Given the description of an element on the screen output the (x, y) to click on. 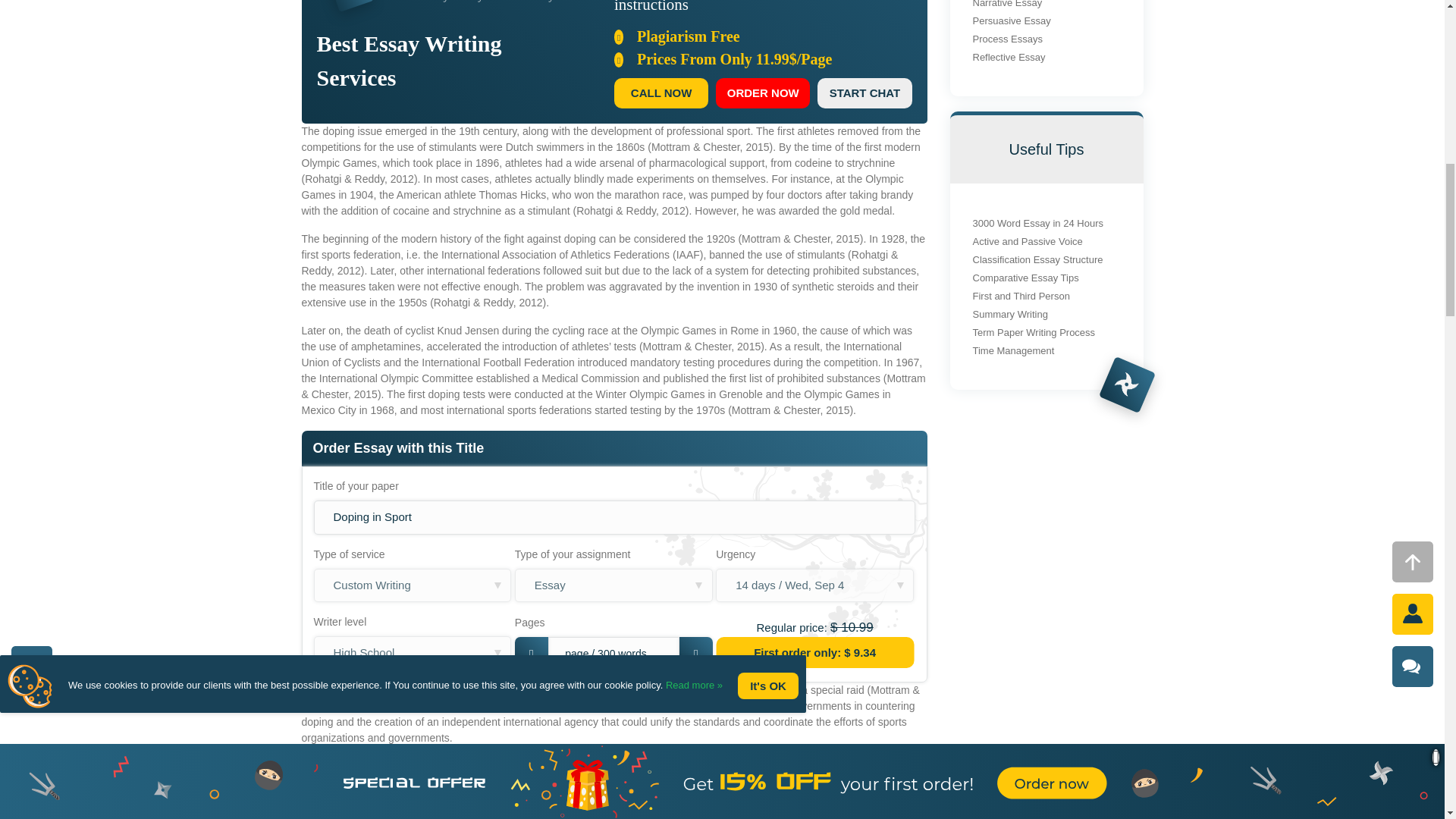
CALL NOW (660, 92)
Minus (531, 653)
ORDER NOW (762, 92)
Plus (696, 653)
START CHAT (863, 92)
Doping in Sport (614, 517)
